Given the description of an element on the screen output the (x, y) to click on. 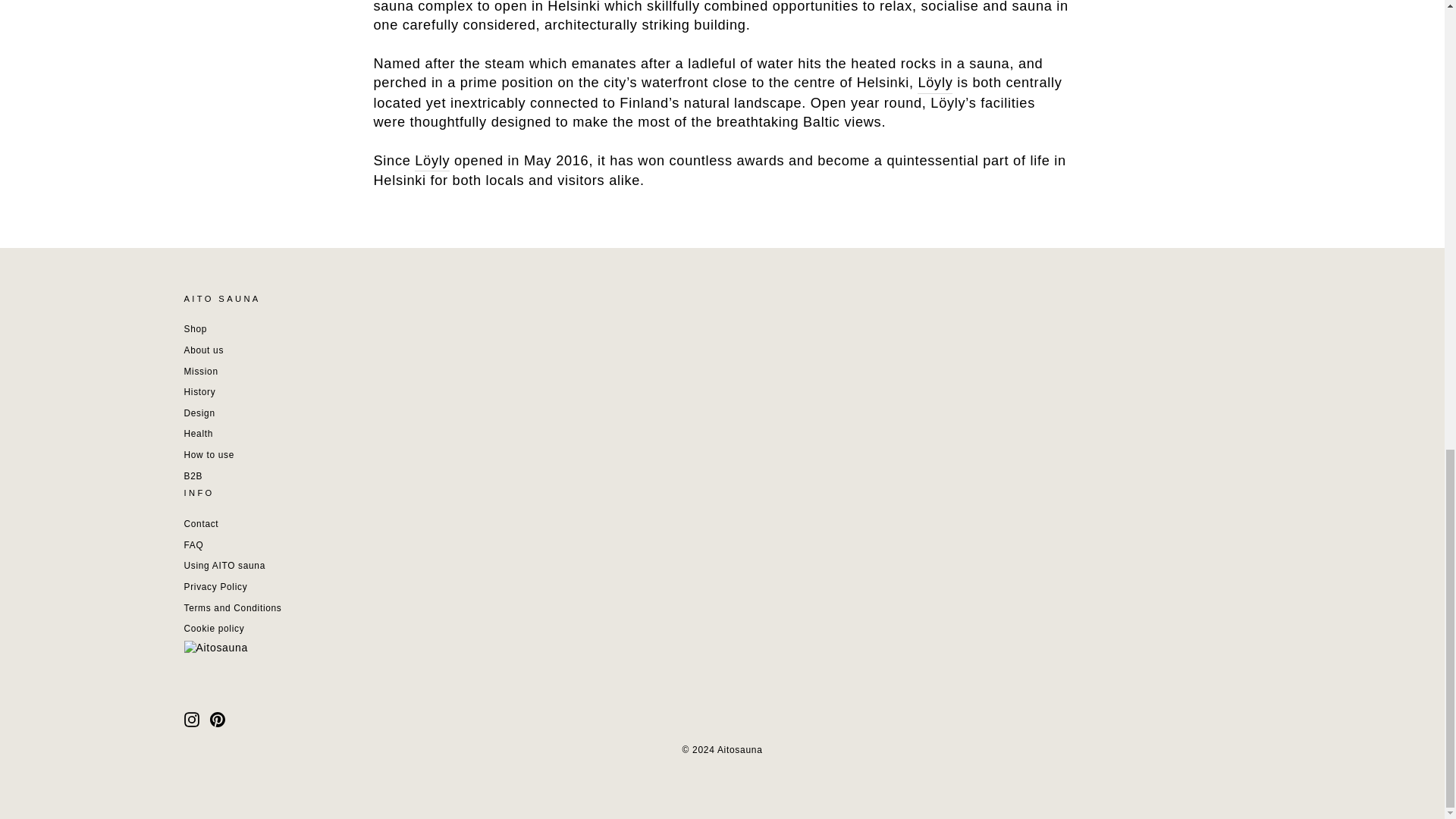
History (199, 392)
About us (203, 350)
B2B (192, 476)
Mission (199, 371)
Health (197, 434)
Shop (194, 329)
Aitosauna on Pinterest (216, 719)
Design (198, 413)
Aitosauna on Instagram (190, 719)
How to use (207, 455)
